Given the description of an element on the screen output the (x, y) to click on. 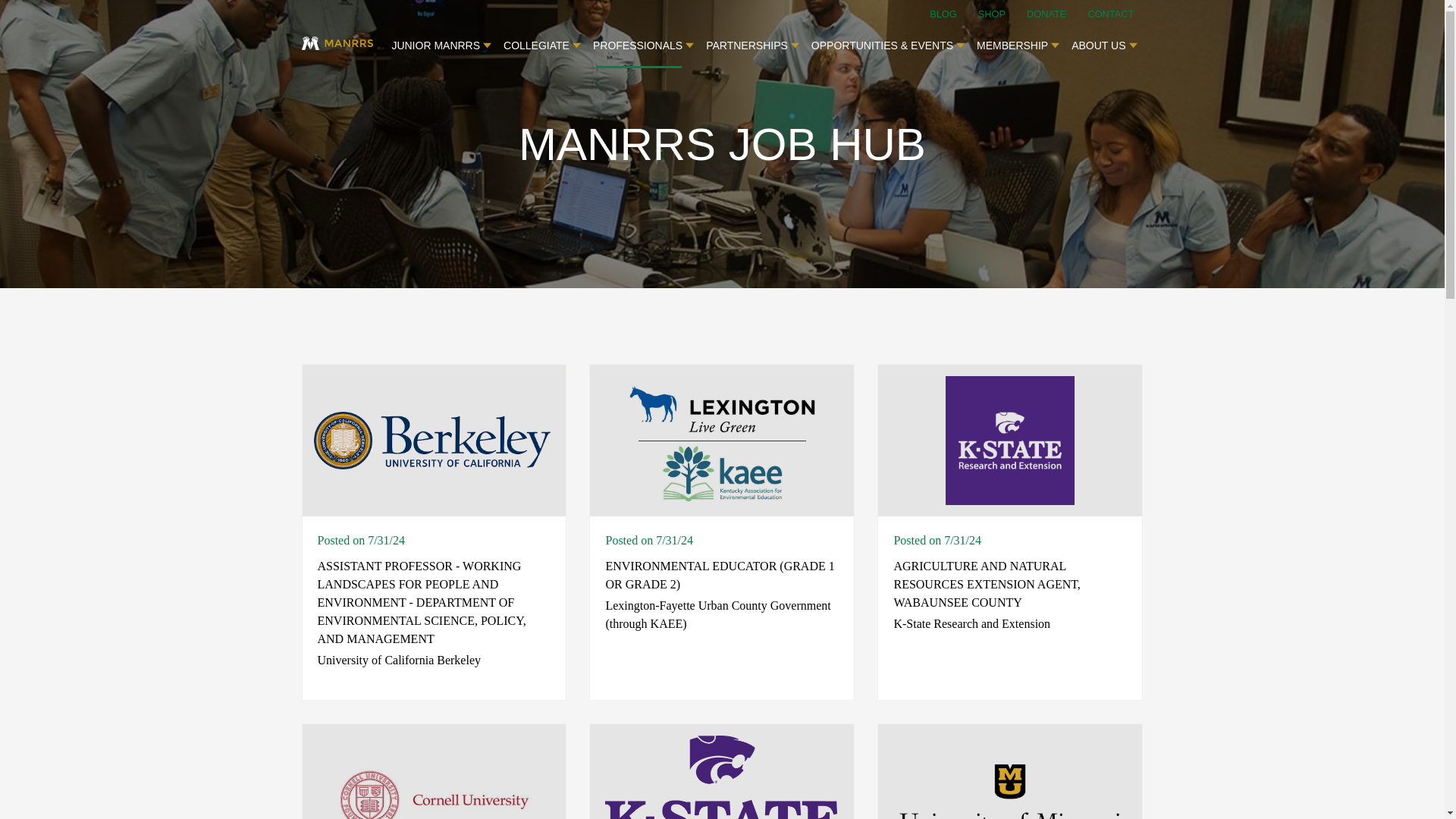
CONTACT (1110, 13)
JUNIOR MANRRS (441, 40)
DONATE (1055, 13)
COLLEGIATE (541, 40)
PROFESSIONALS (643, 40)
PARTNERSHIPS (752, 40)
BLOG (952, 13)
SHOP (1000, 13)
MEMBERSHIP (1018, 40)
